Given the description of an element on the screen output the (x, y) to click on. 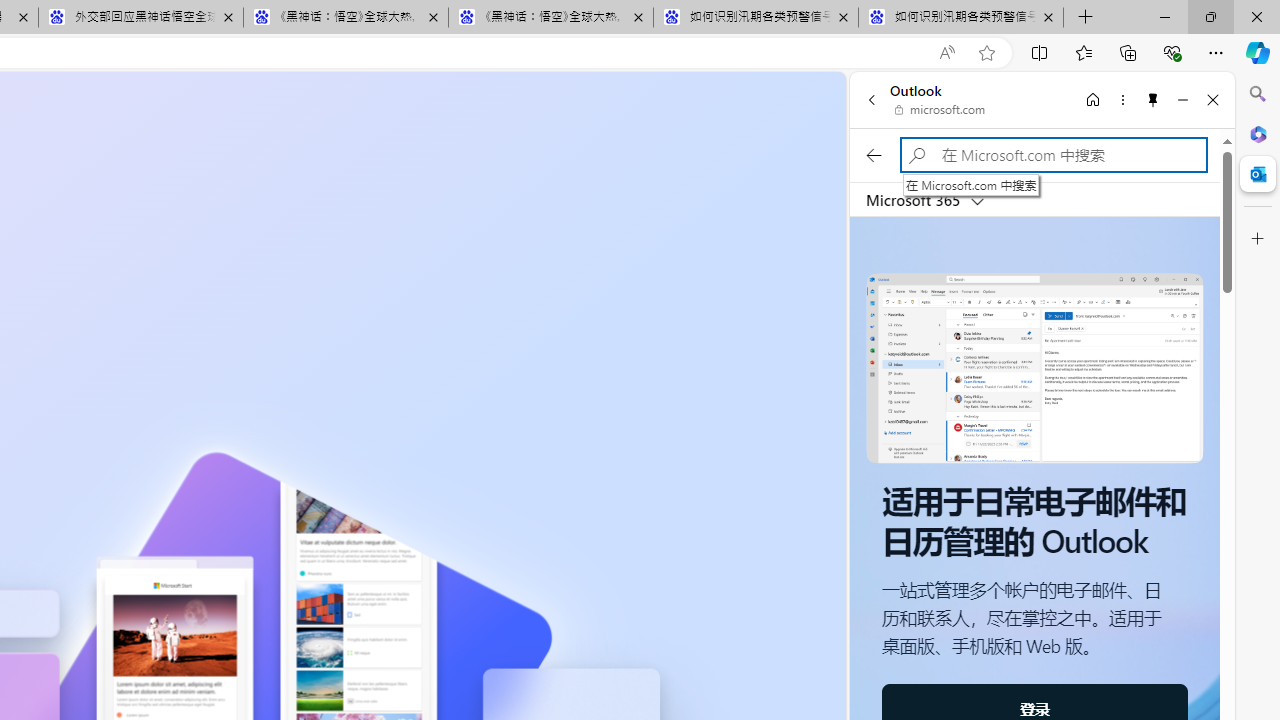
Settings and more (Alt+F) (1215, 52)
Browser essentials (1171, 52)
Favorites (1083, 52)
Search (1258, 94)
Restore (1210, 16)
Split screen (1039, 52)
New Tab (1085, 17)
Add this page to favorites (Ctrl+D) (986, 53)
Microsoft 365 (1258, 133)
